Given the description of an element on the screen output the (x, y) to click on. 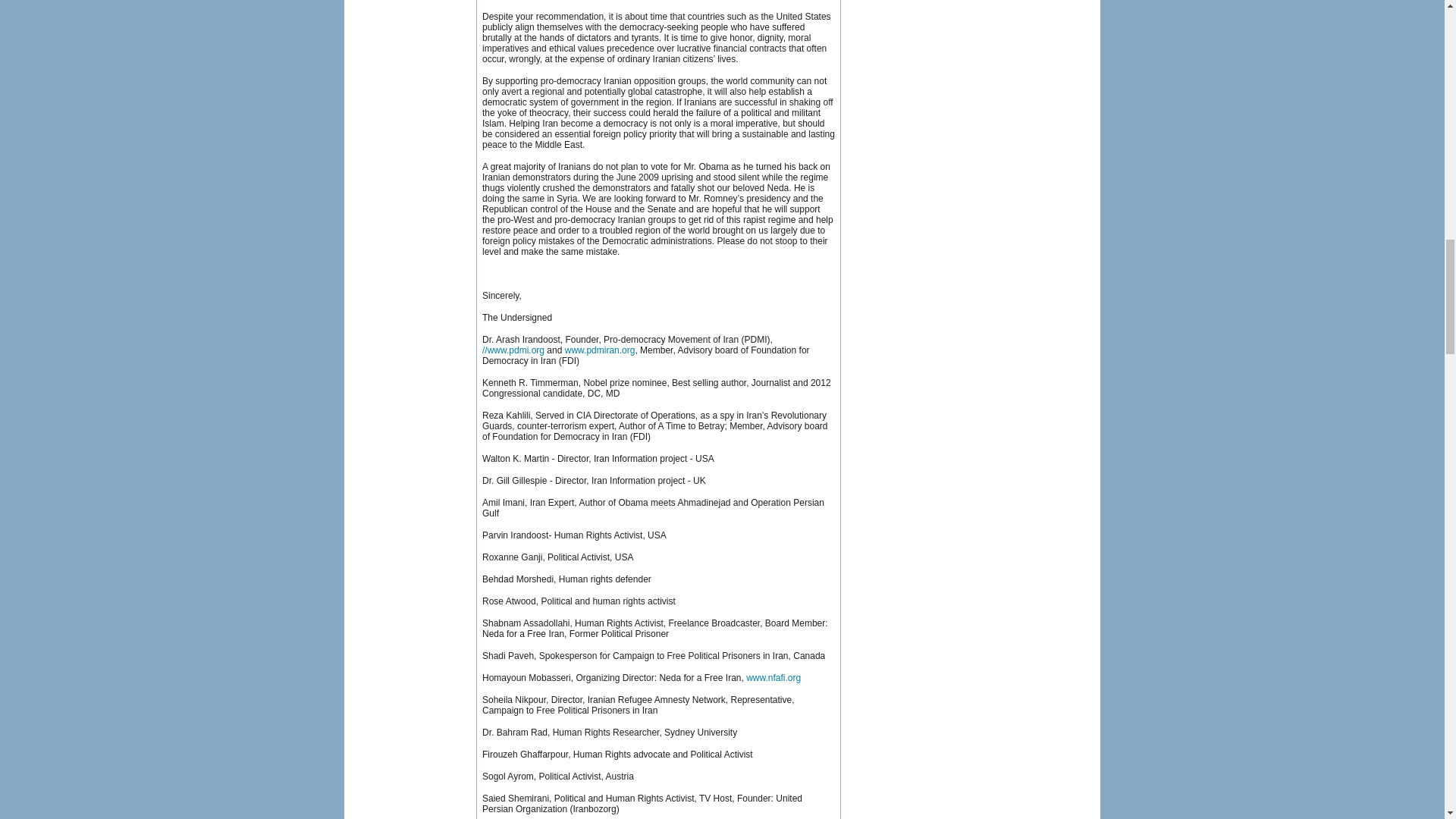
www.pdmiran.org (599, 349)
www.nfafi.org (772, 677)
